Given the description of an element on the screen output the (x, y) to click on. 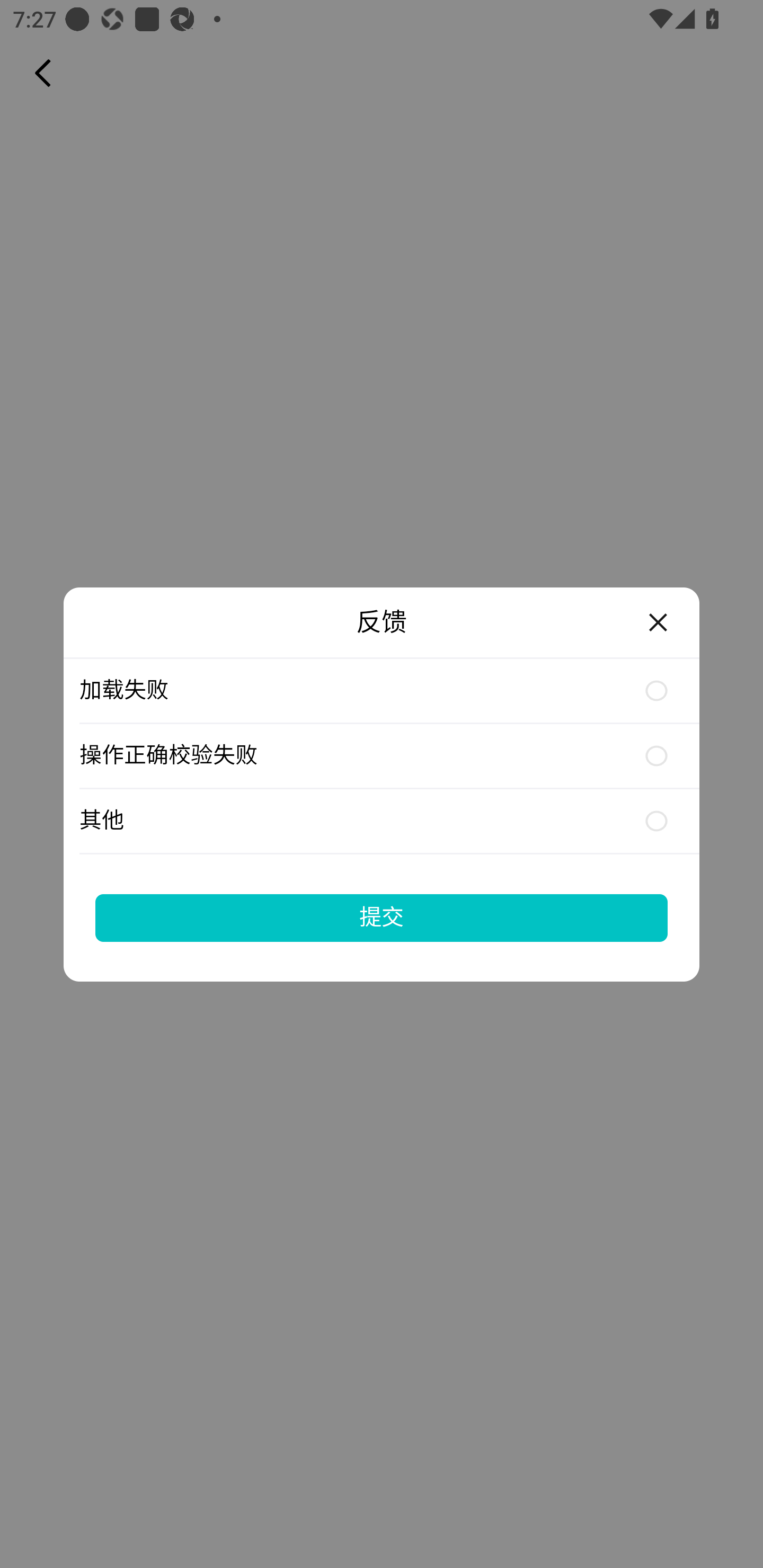
提交 (381, 917)
